Given the description of an element on the screen output the (x, y) to click on. 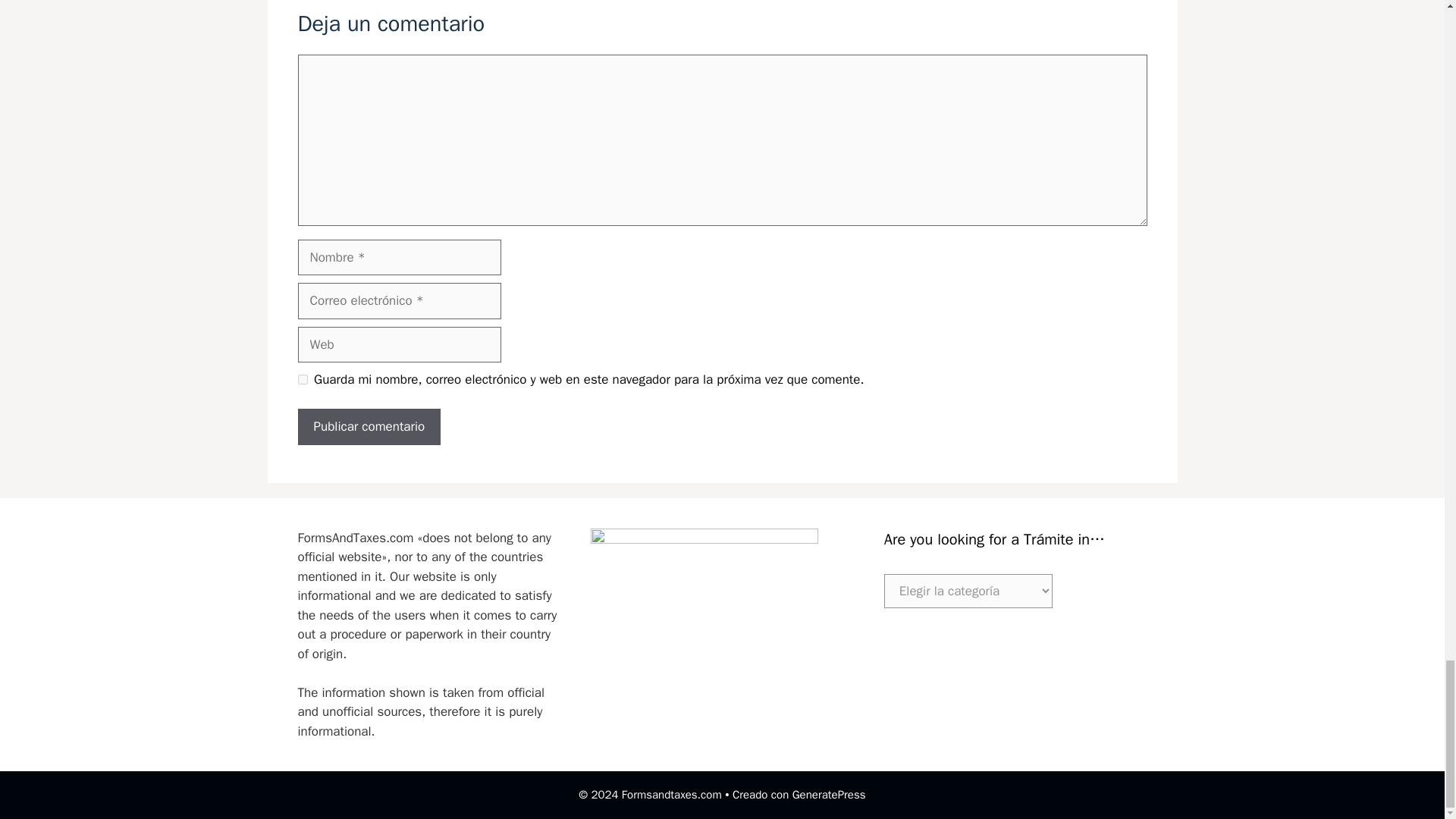
yes (302, 379)
Publicar comentario (369, 426)
GeneratePress (829, 794)
Publicar comentario (369, 426)
